Given the description of an element on the screen output the (x, y) to click on. 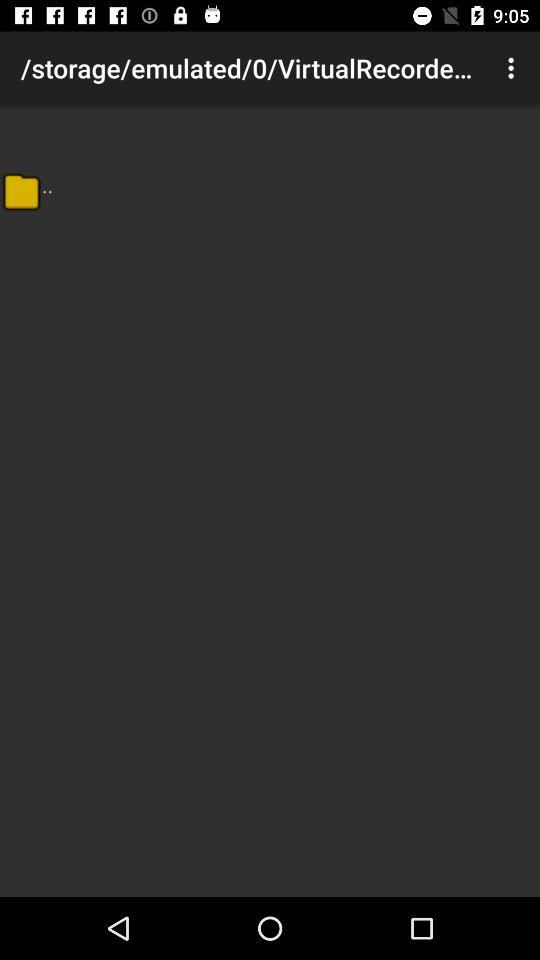
click item next to the .. app (21, 191)
